Given the description of an element on the screen output the (x, y) to click on. 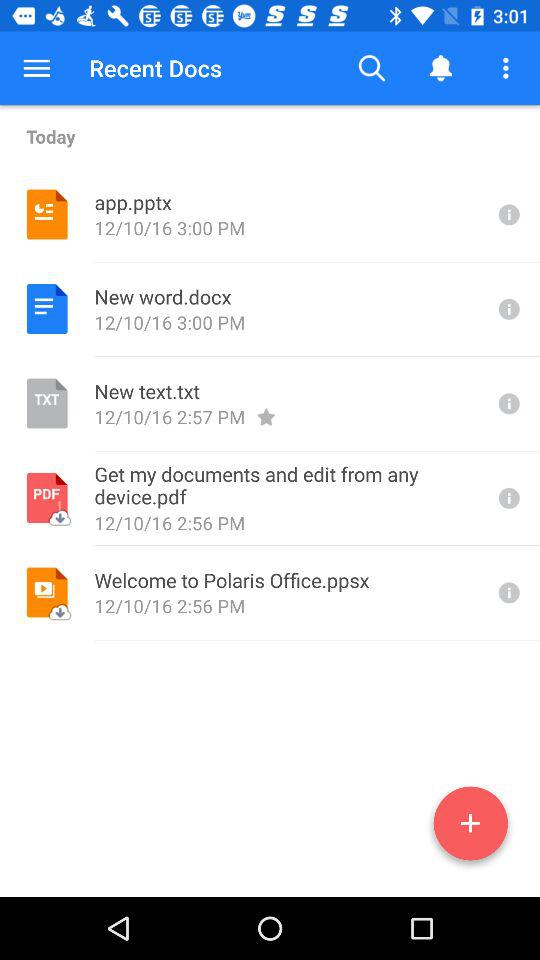
info on app.pptx (507, 214)
